Given the description of an element on the screen output the (x, y) to click on. 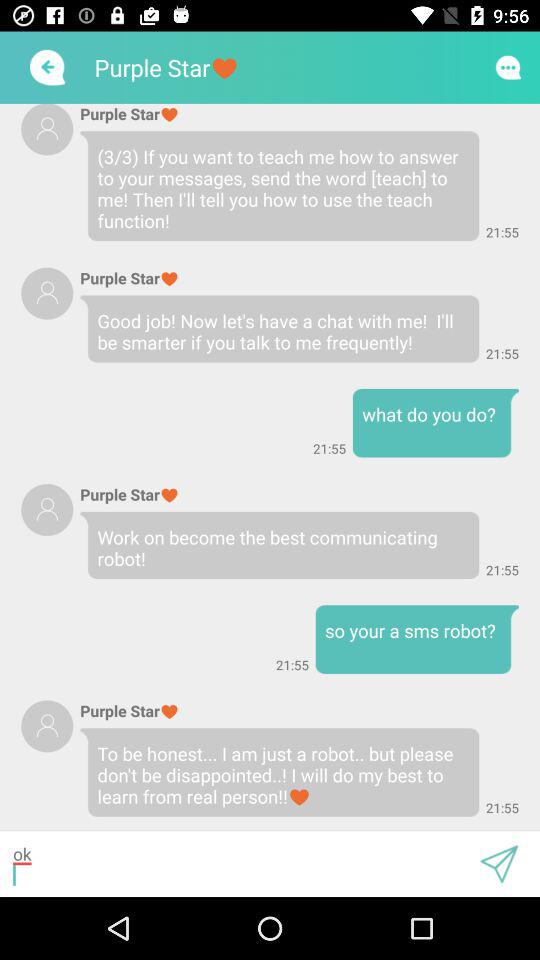
open profile (47, 509)
